Given the description of an element on the screen output the (x, y) to click on. 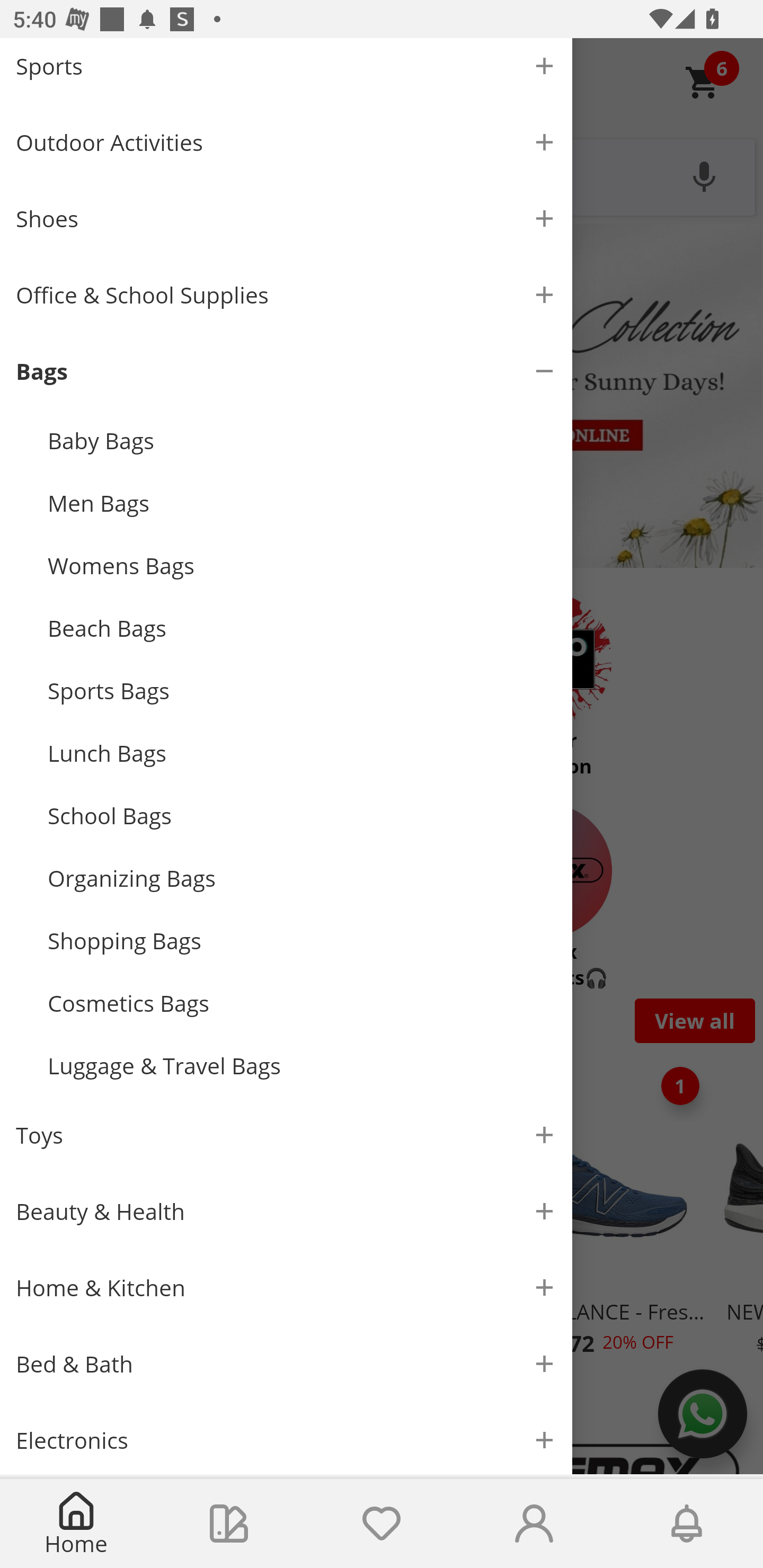
Sports (286, 71)
Outdoor Activities (286, 142)
Shoes (286, 218)
Office & School Supplies (286, 294)
Baby Bags (302, 440)
Men Bags (302, 502)
Womens Bags (302, 565)
Beach Bags (302, 628)
Sports Bags (302, 690)
Lunch Bags (302, 752)
School Bags (302, 815)
Organizing Bags (302, 877)
Shopping Bags (302, 940)
Cosmetics Bags (302, 1003)
Luggage & Travel Bags (302, 1065)
Toys (286, 1134)
Beauty & Health (286, 1210)
Home & Kitchen (286, 1287)
Bed & Bath (286, 1363)
Electronics (286, 1437)
Collections (228, 1523)
Wishlist (381, 1523)
Account (533, 1523)
Notifications (686, 1523)
